Given the description of an element on the screen output the (x, y) to click on. 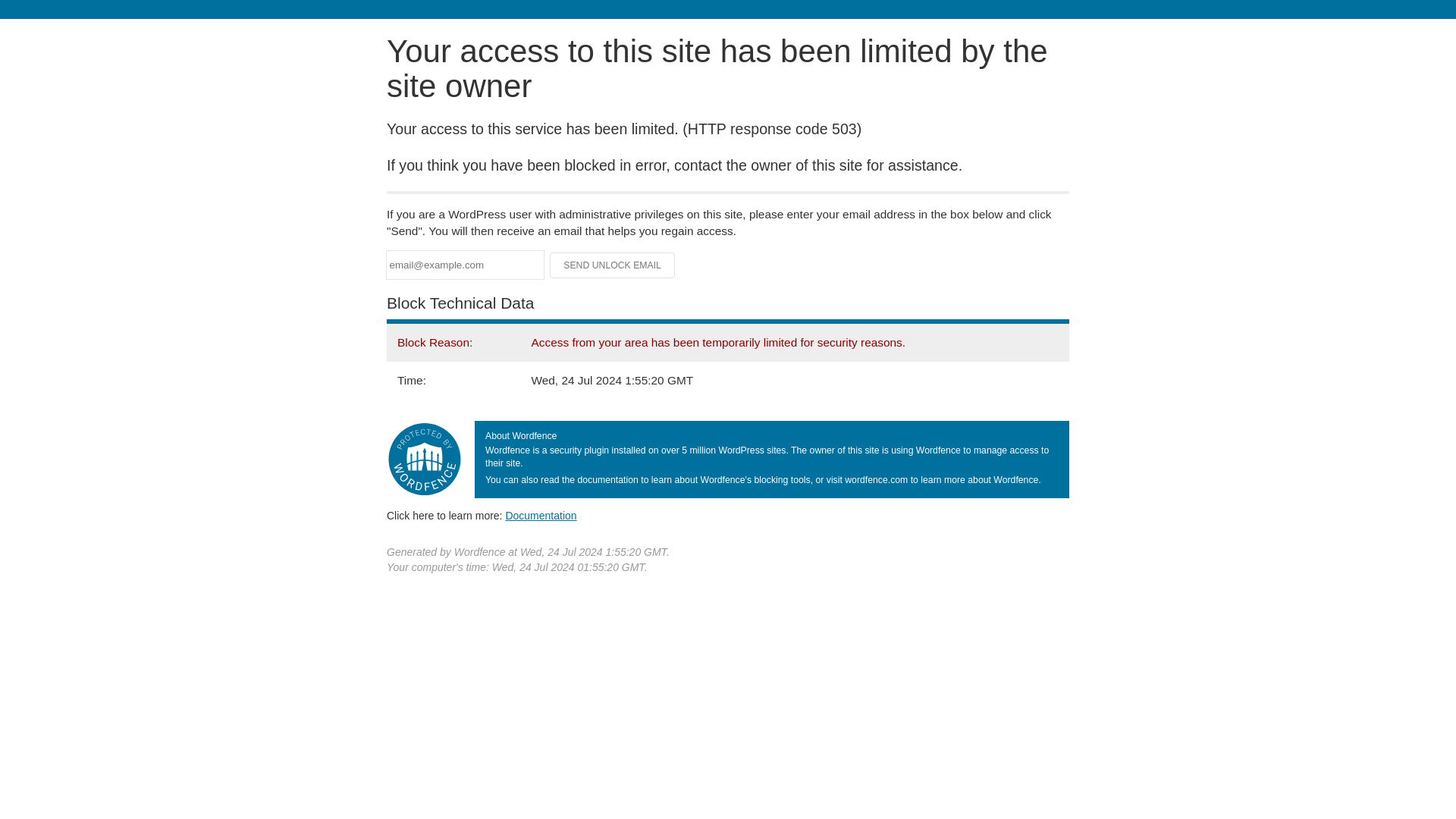
Documentation (540, 515)
Send Unlock Email (612, 265)
Send Unlock Email (612, 265)
